Given the description of an element on the screen output the (x, y) to click on. 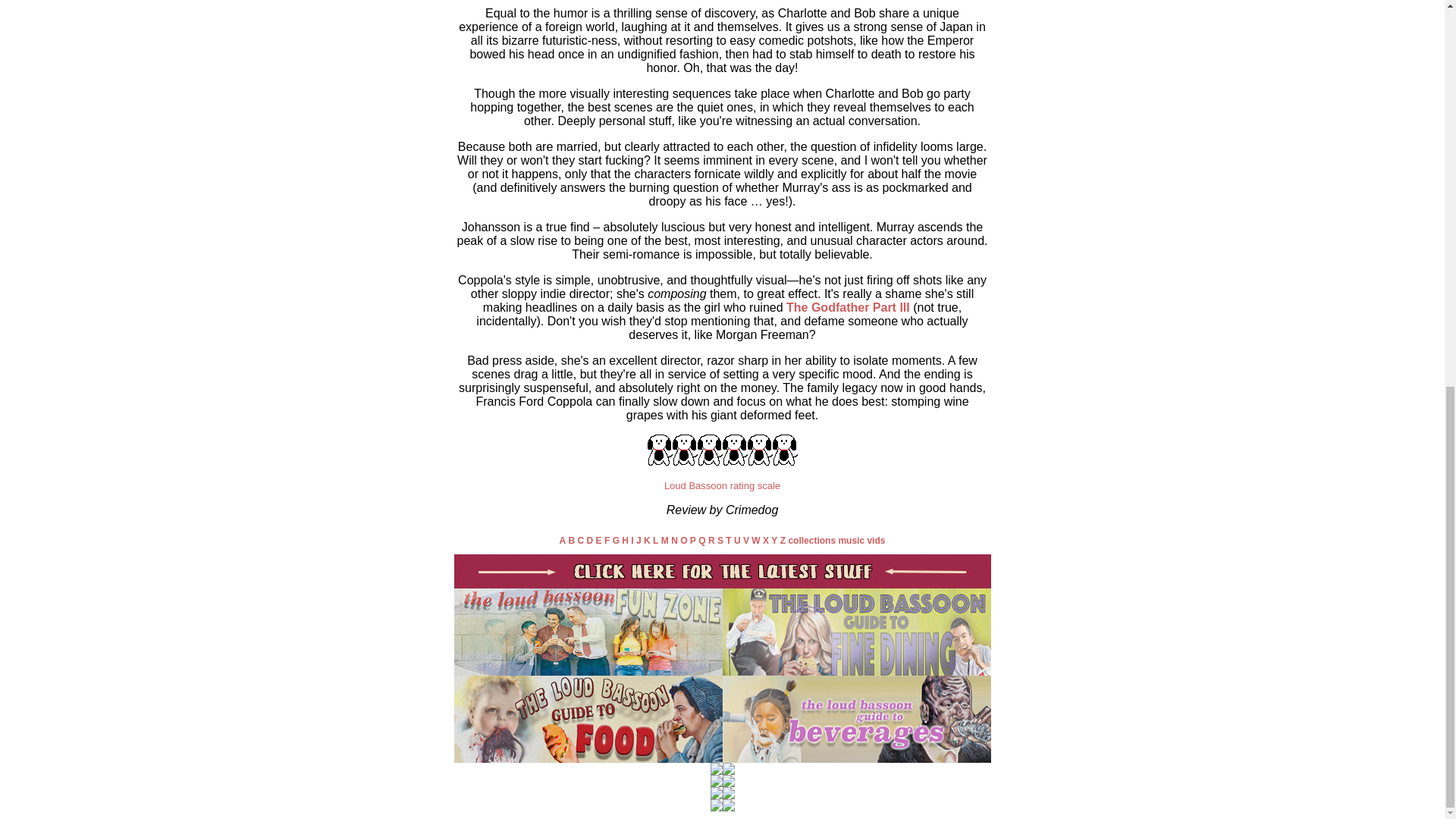
music vids (861, 540)
The Godfather Part III (848, 307)
Loud Bassoon rating scale (721, 485)
collections (811, 540)
